Given the description of an element on the screen output the (x, y) to click on. 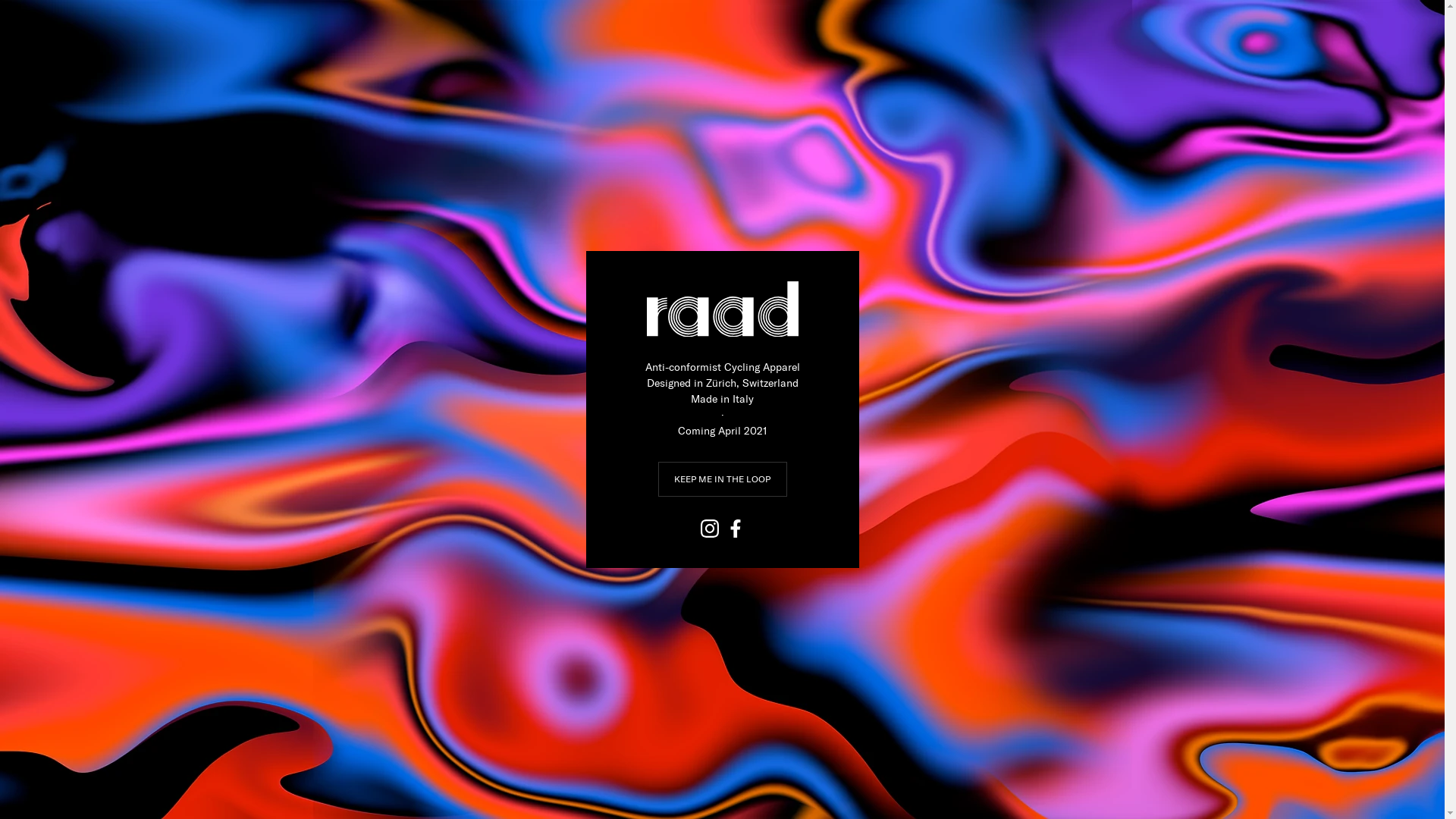
KEEP ME IN THE LOOP Element type: text (722, 478)
